Given the description of an element on the screen output the (x, y) to click on. 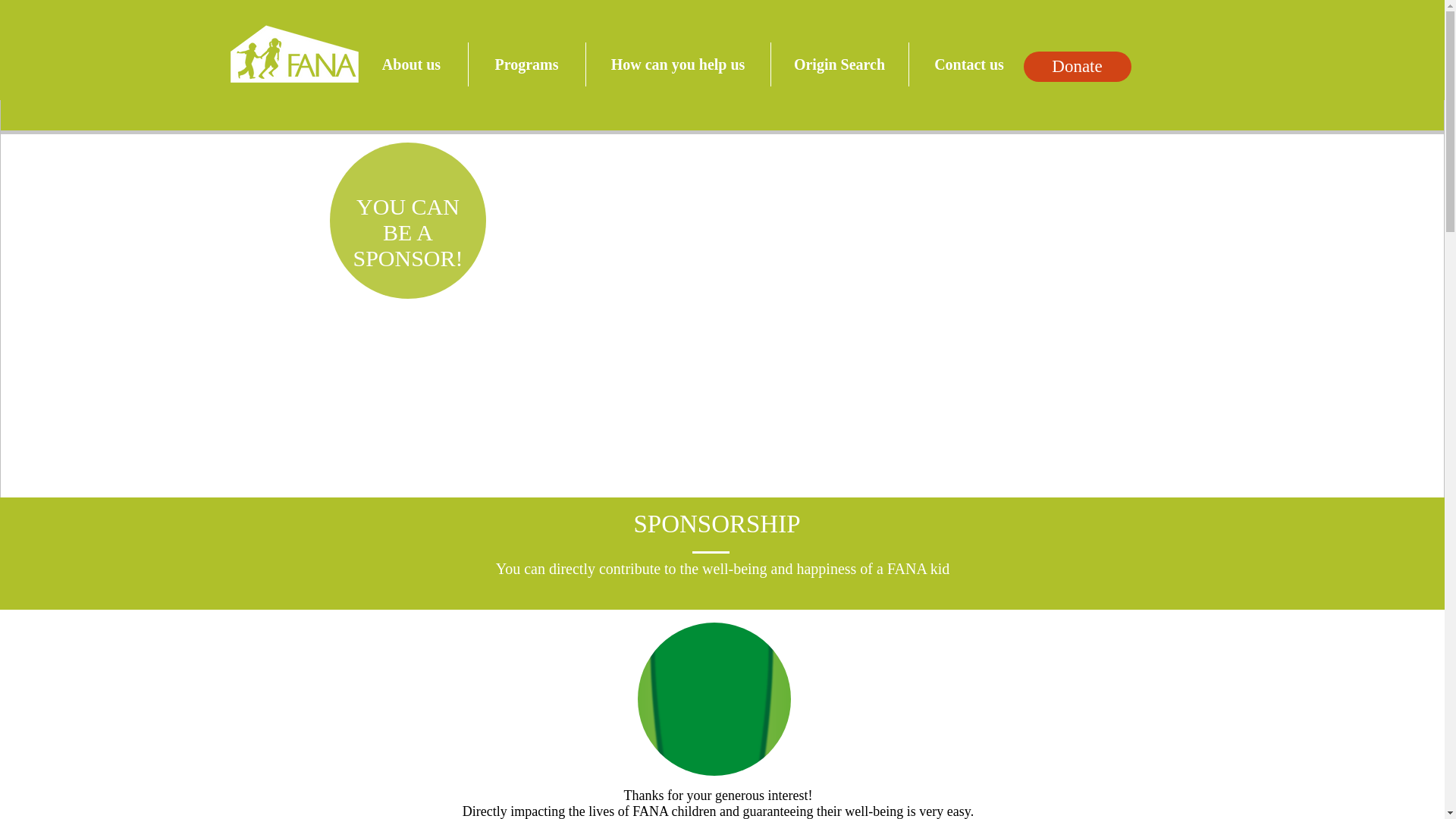
Contact us (968, 64)
Origin Search (838, 64)
How can you help us (677, 64)
Donate (1077, 66)
About us (411, 64)
Programs (526, 64)
